Given the description of an element on the screen output the (x, y) to click on. 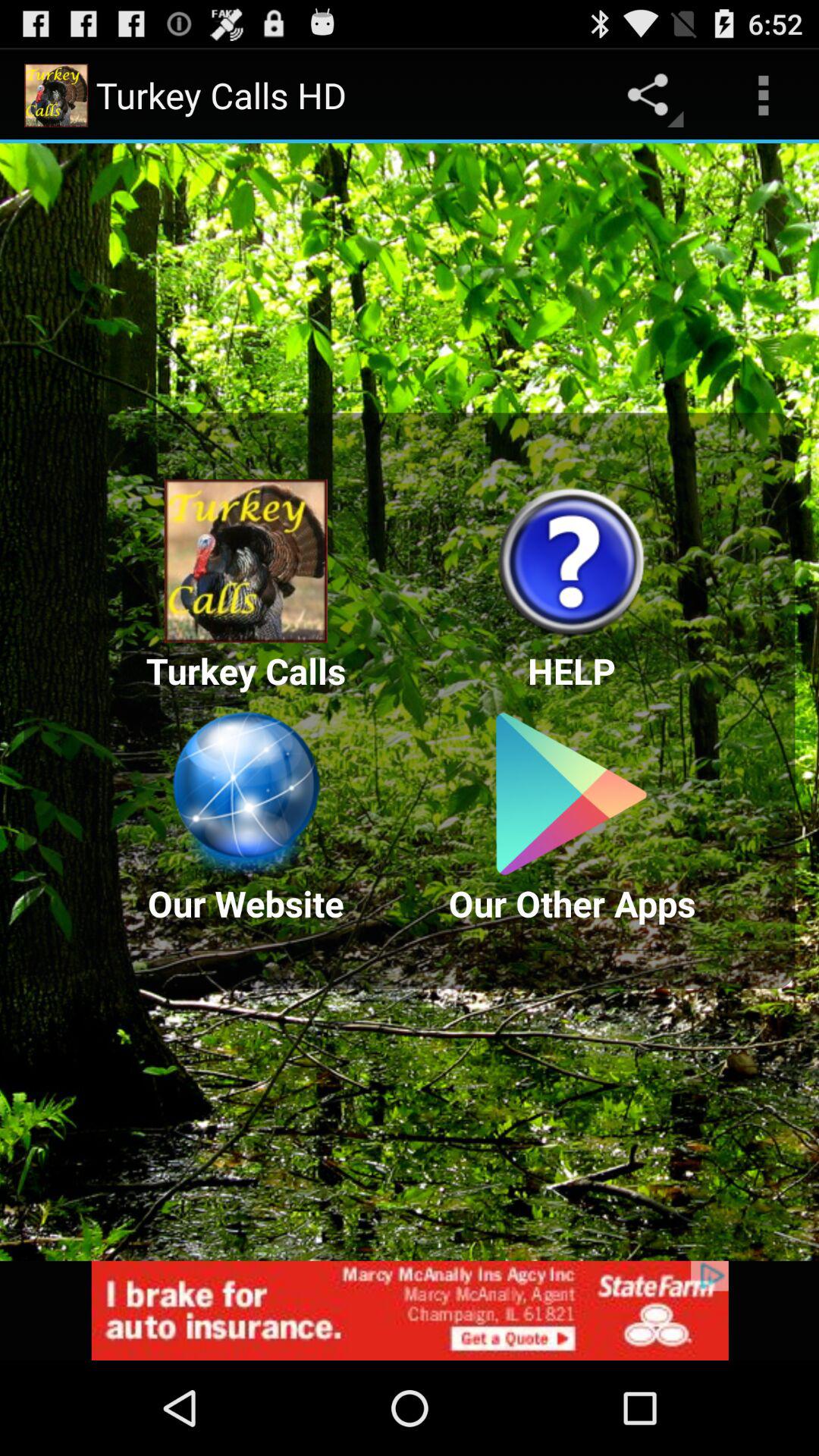
lower advertisement bar (409, 1310)
